Given the description of an element on the screen output the (x, y) to click on. 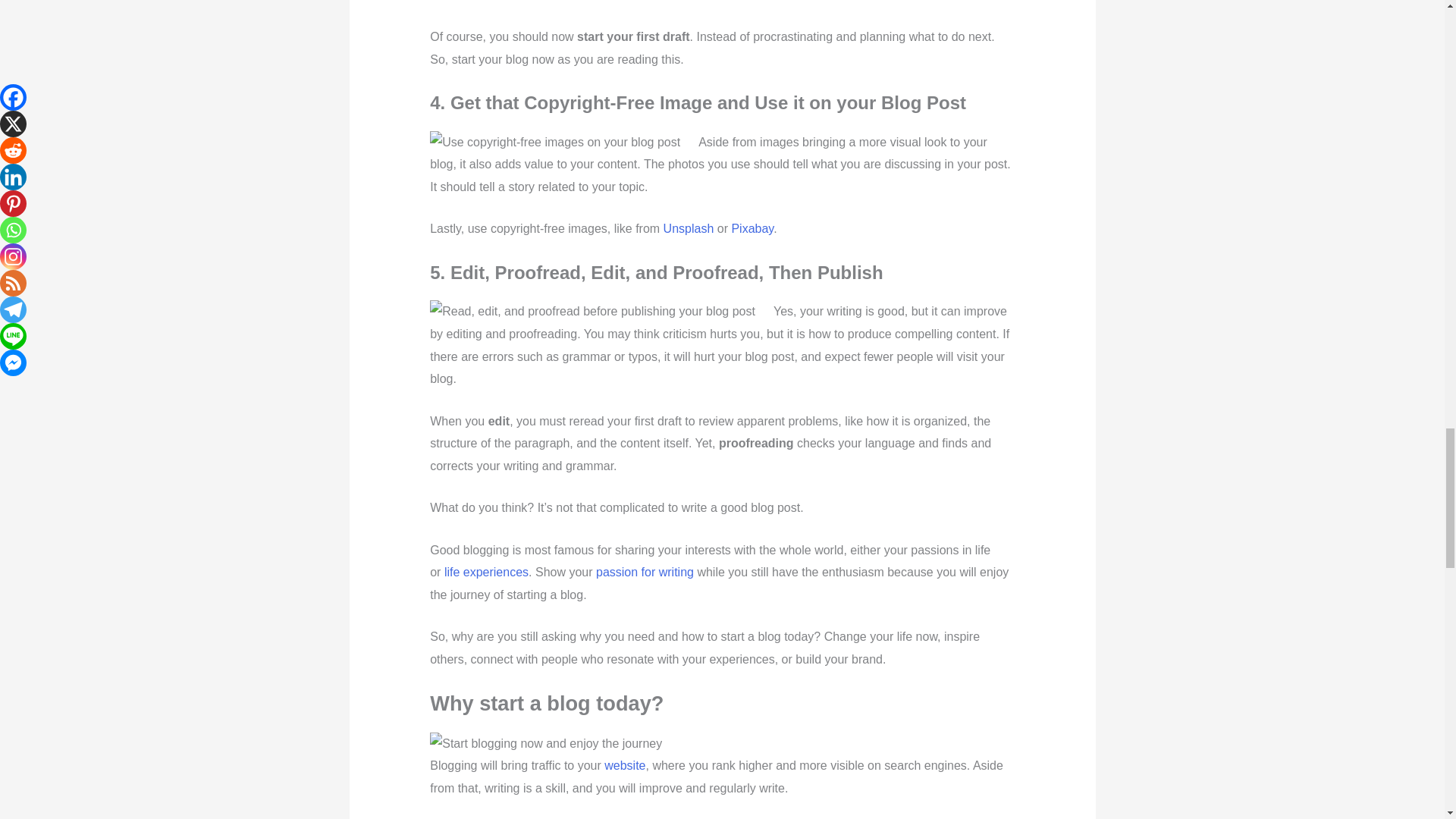
Pixabay (751, 228)
website (624, 765)
Unsplash (688, 228)
life experiences (486, 571)
passion for writing (644, 571)
